Given the description of an element on the screen output the (x, y) to click on. 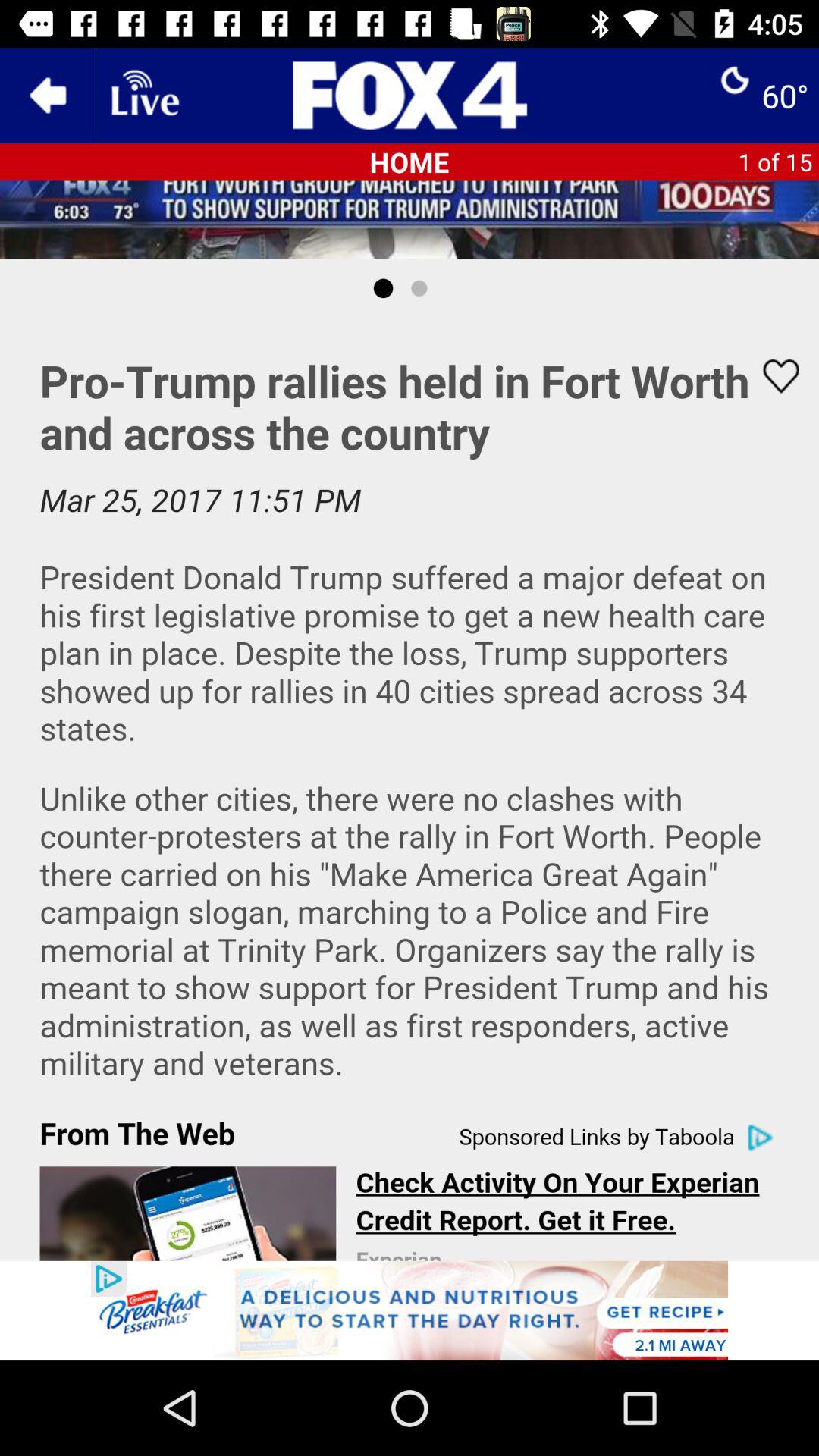
go to home (409, 95)
